Given the description of an element on the screen output the (x, y) to click on. 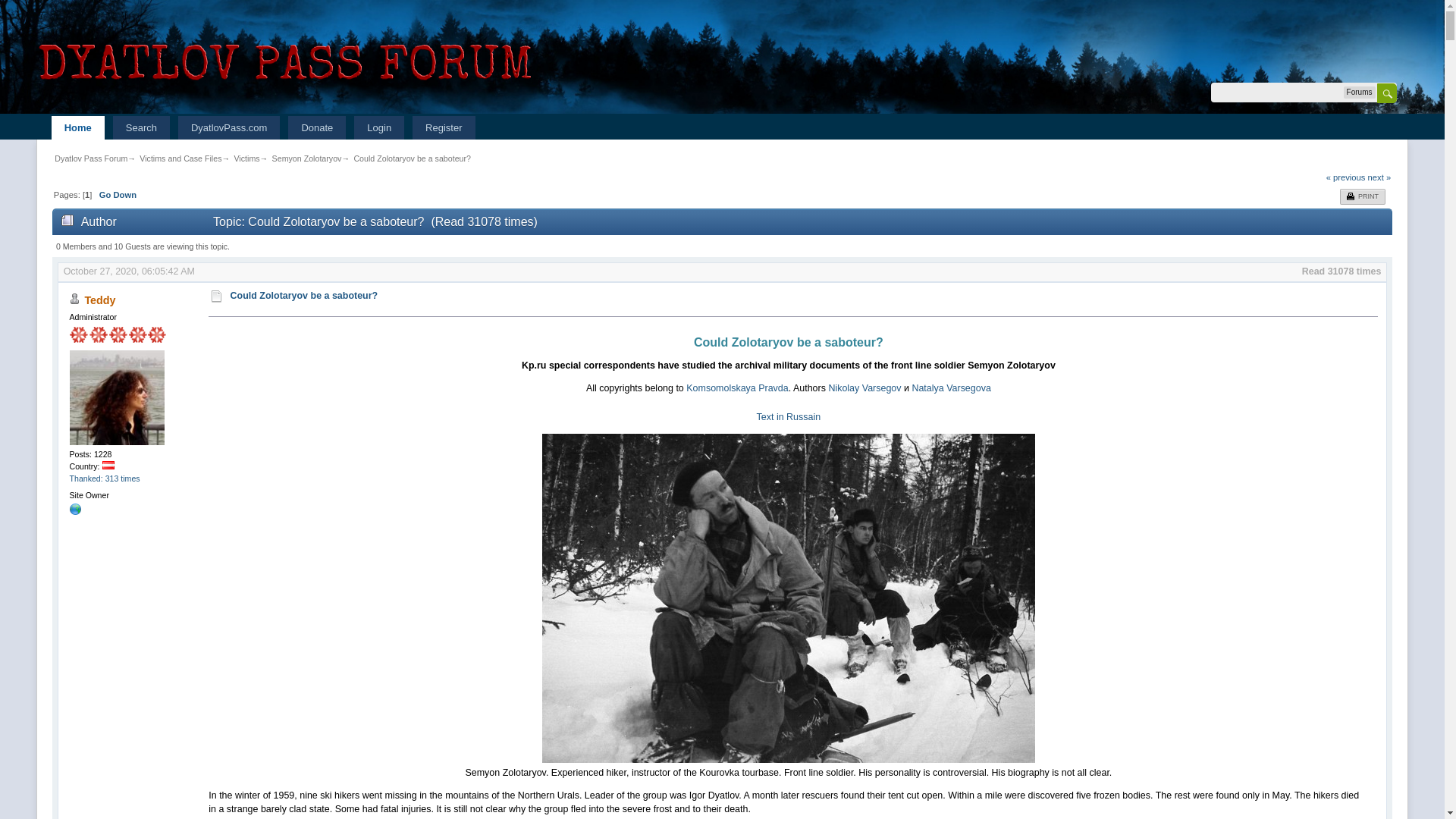
Teddy (99, 300)
Austria (108, 465)
DyatlovPass.com (228, 127)
Nikolay Varsegov (864, 388)
PRINT (1362, 196)
Home (77, 127)
Semyon Zolotaryov (307, 158)
View the profile of Teddy (99, 300)
Natalya Varsegova (950, 388)
Go Down (117, 194)
Could Zolotaryov be a saboteur? (411, 158)
Victims and Case Files (180, 158)
Login (378, 127)
Teddy Land (75, 511)
Thanked: 313 times (104, 478)
